Given the description of an element on the screen output the (x, y) to click on. 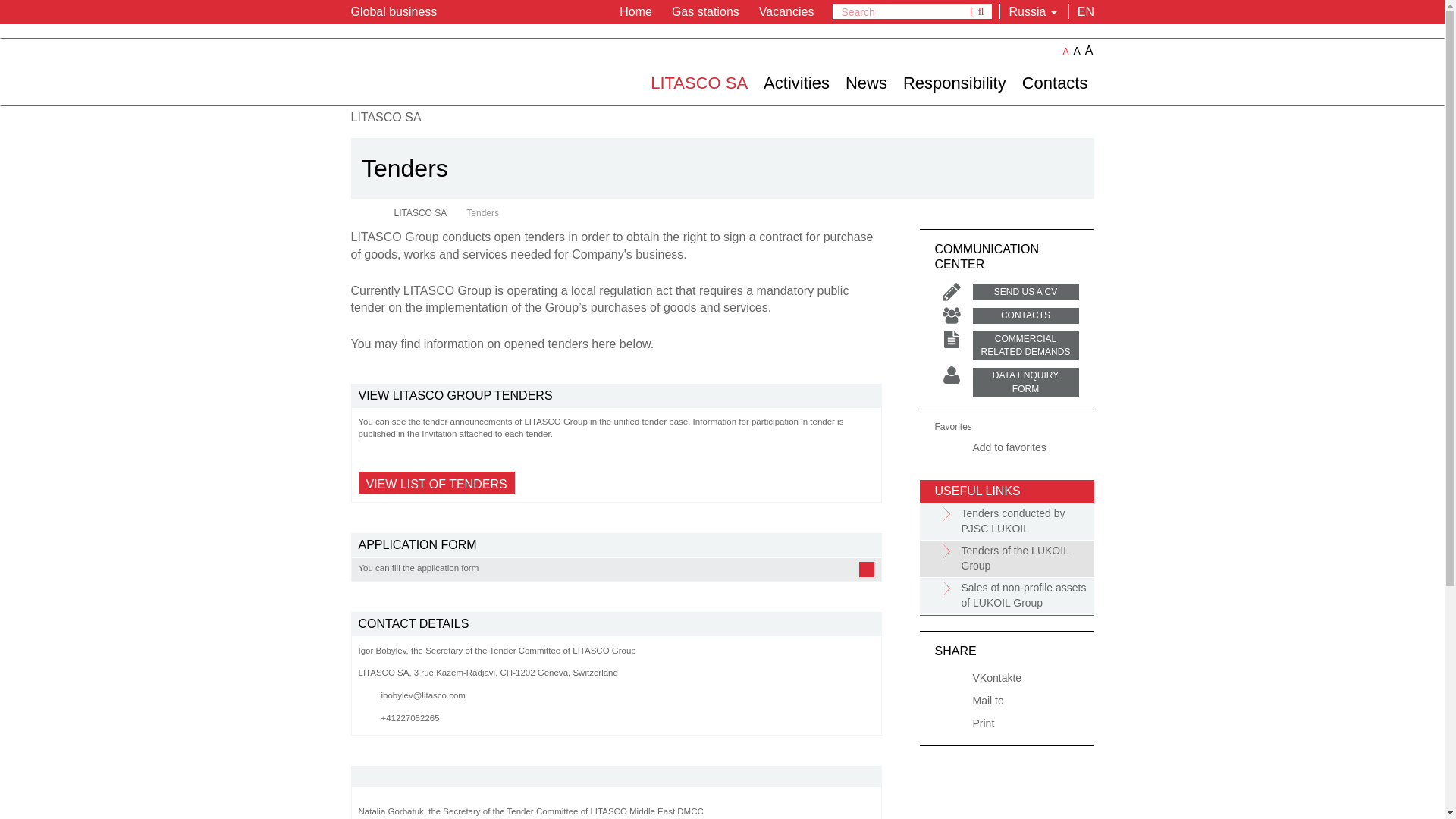
LITASCO SA (698, 81)
You can fill the application form (615, 569)
Russia (1029, 11)
Activities (796, 81)
Responsibility (955, 81)
Contacts (1055, 81)
News (866, 81)
VIEW LIST OF TENDERS (435, 482)
Gas stations (702, 11)
Vacancies (784, 11)
